Given the description of an element on the screen output the (x, y) to click on. 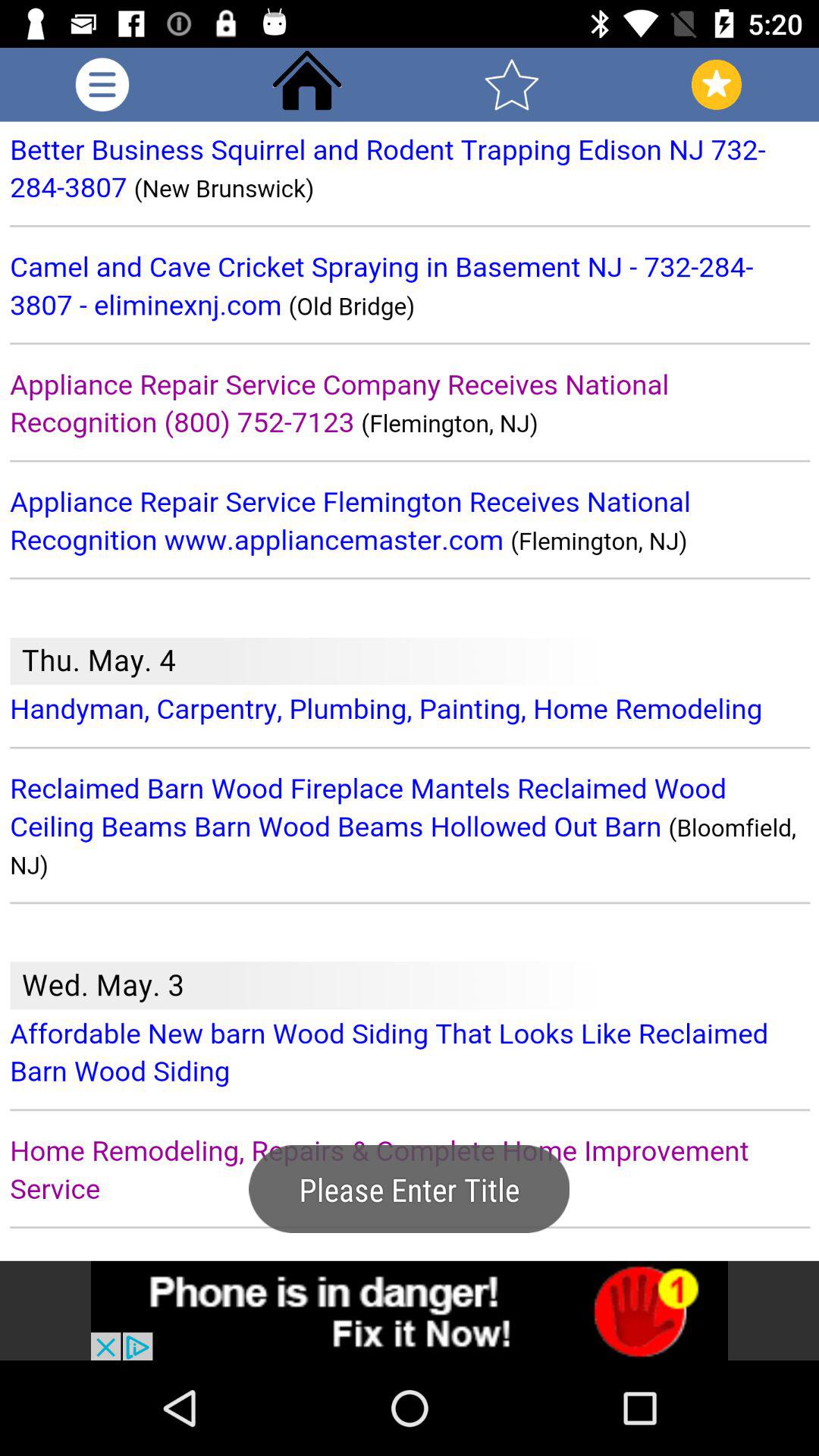
favorite (511, 84)
